Given the description of an element on the screen output the (x, y) to click on. 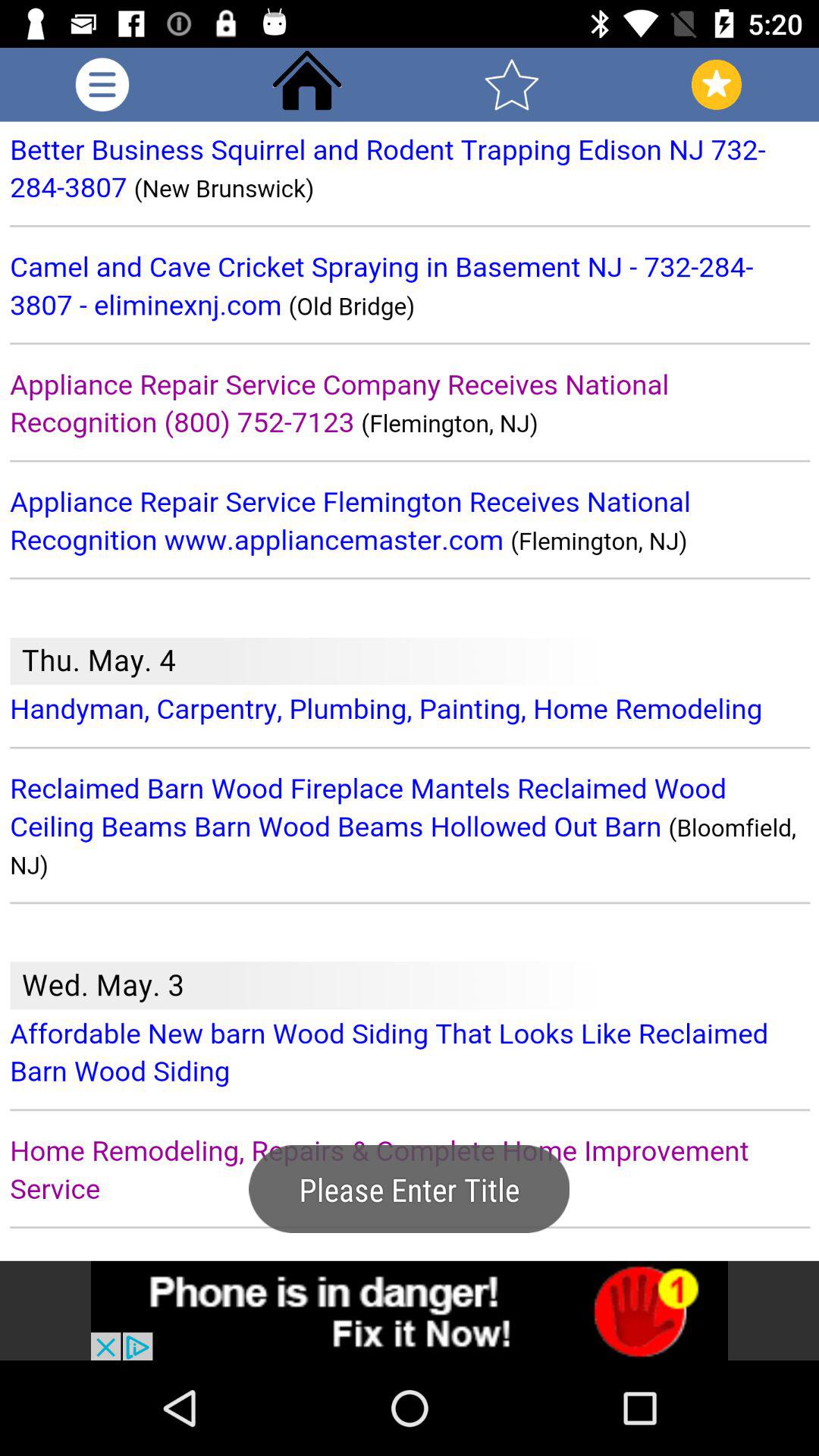
favorite (511, 84)
